Given the description of an element on the screen output the (x, y) to click on. 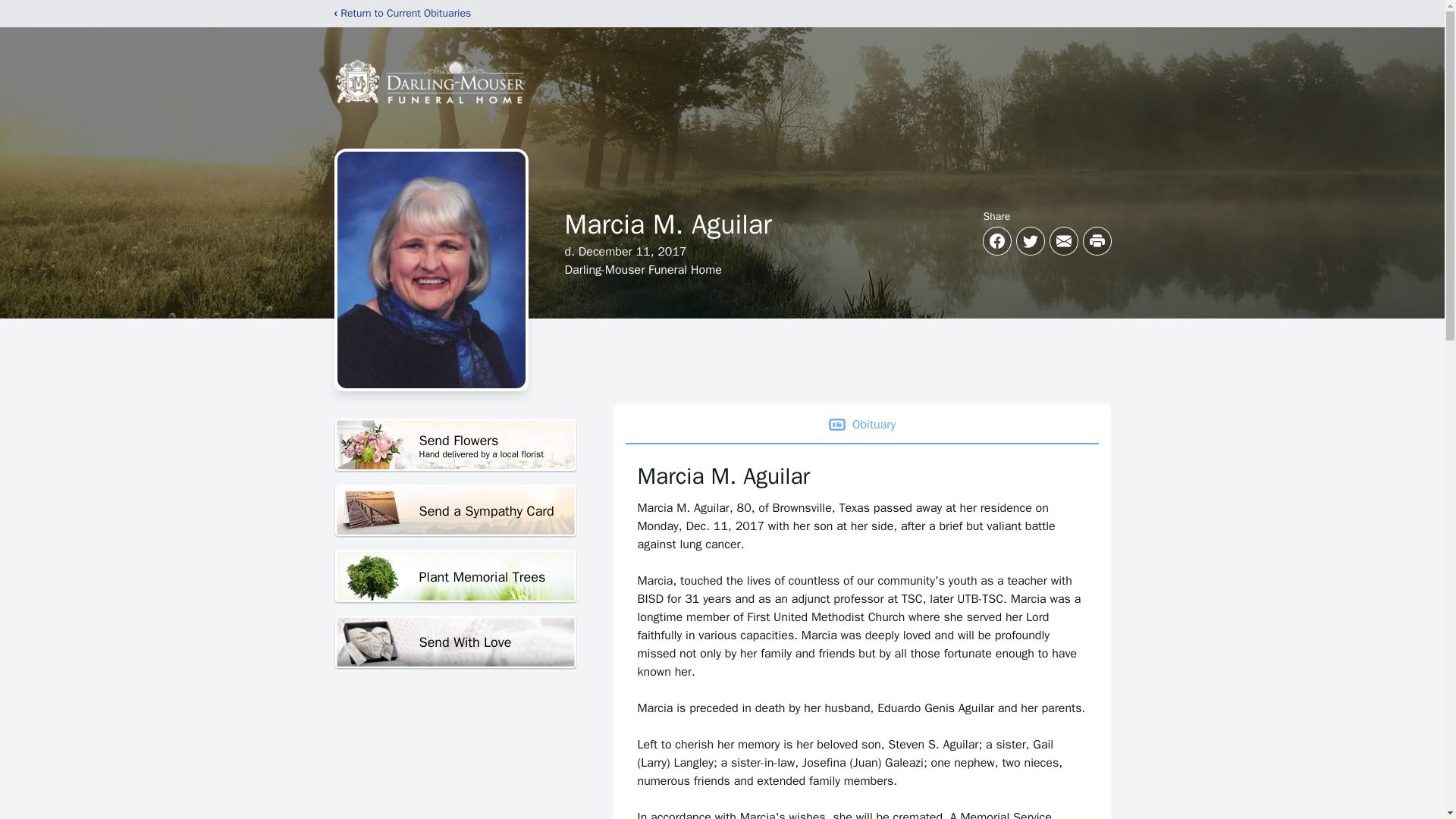
Send With Love (454, 642)
Plant Memorial Trees (454, 576)
Obituary (860, 425)
Send a Sympathy Card (454, 445)
